Given the description of an element on the screen output the (x, y) to click on. 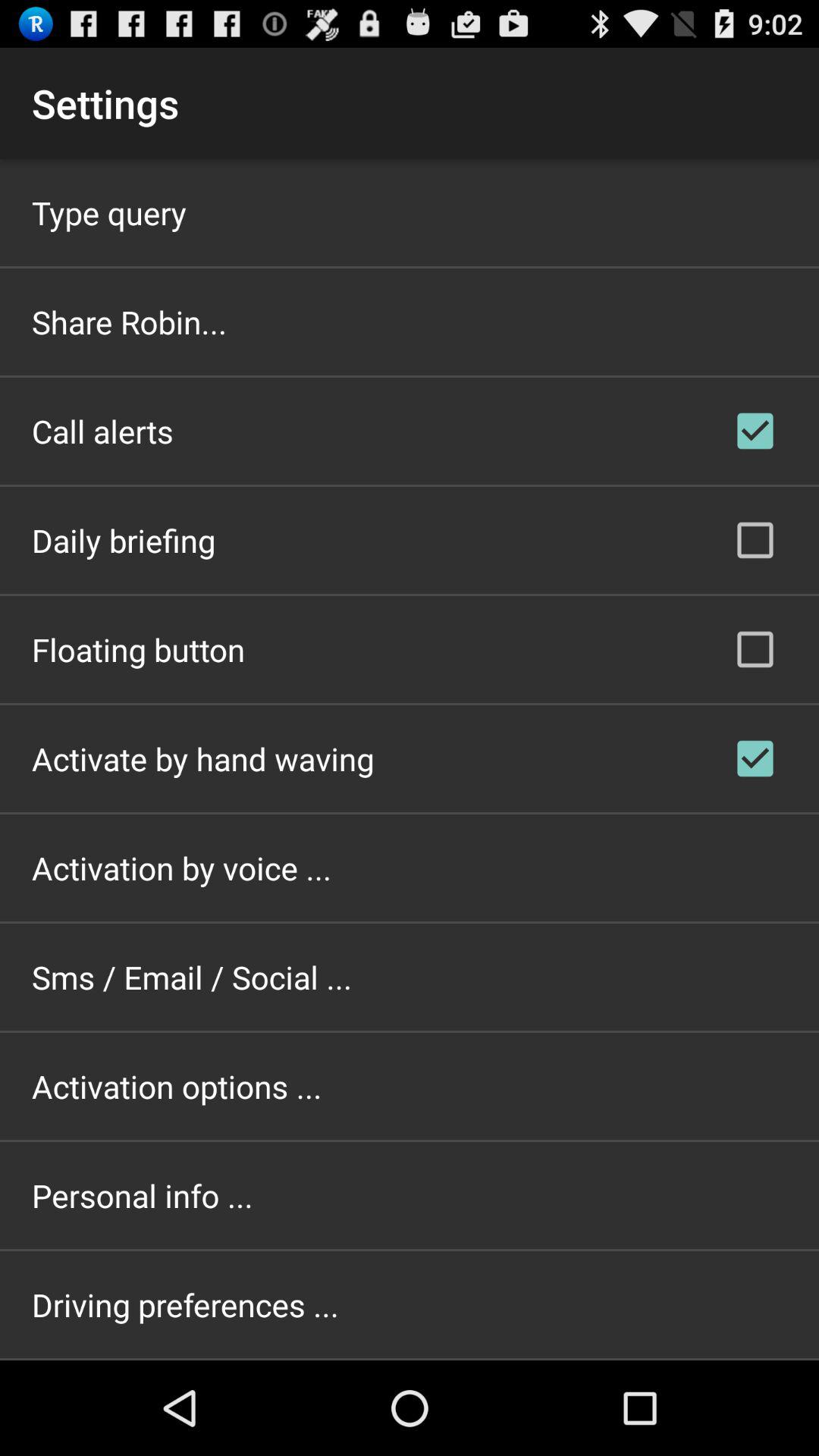
launch the app below the activation by voice ... item (191, 976)
